Given the description of an element on the screen output the (x, y) to click on. 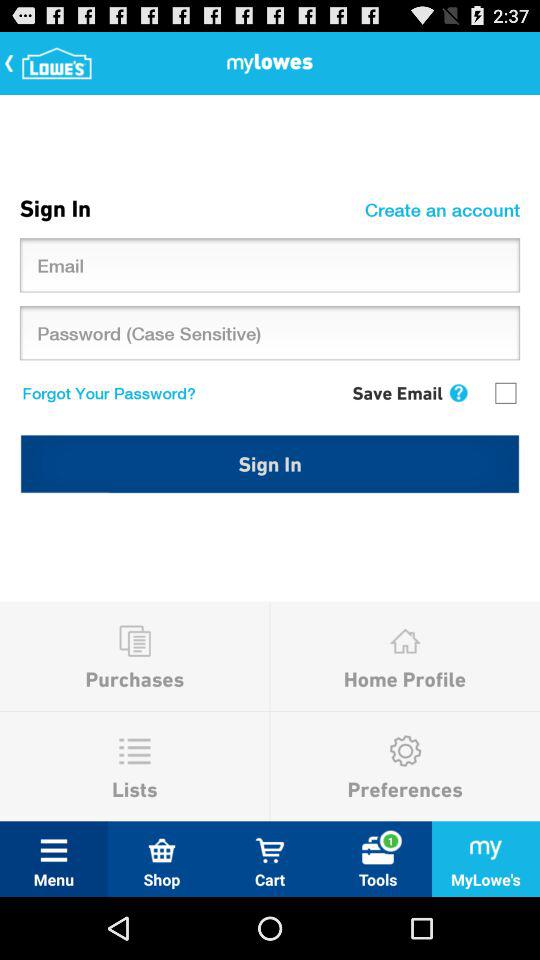
launch the icon above sign in (505, 392)
